Given the description of an element on the screen output the (x, y) to click on. 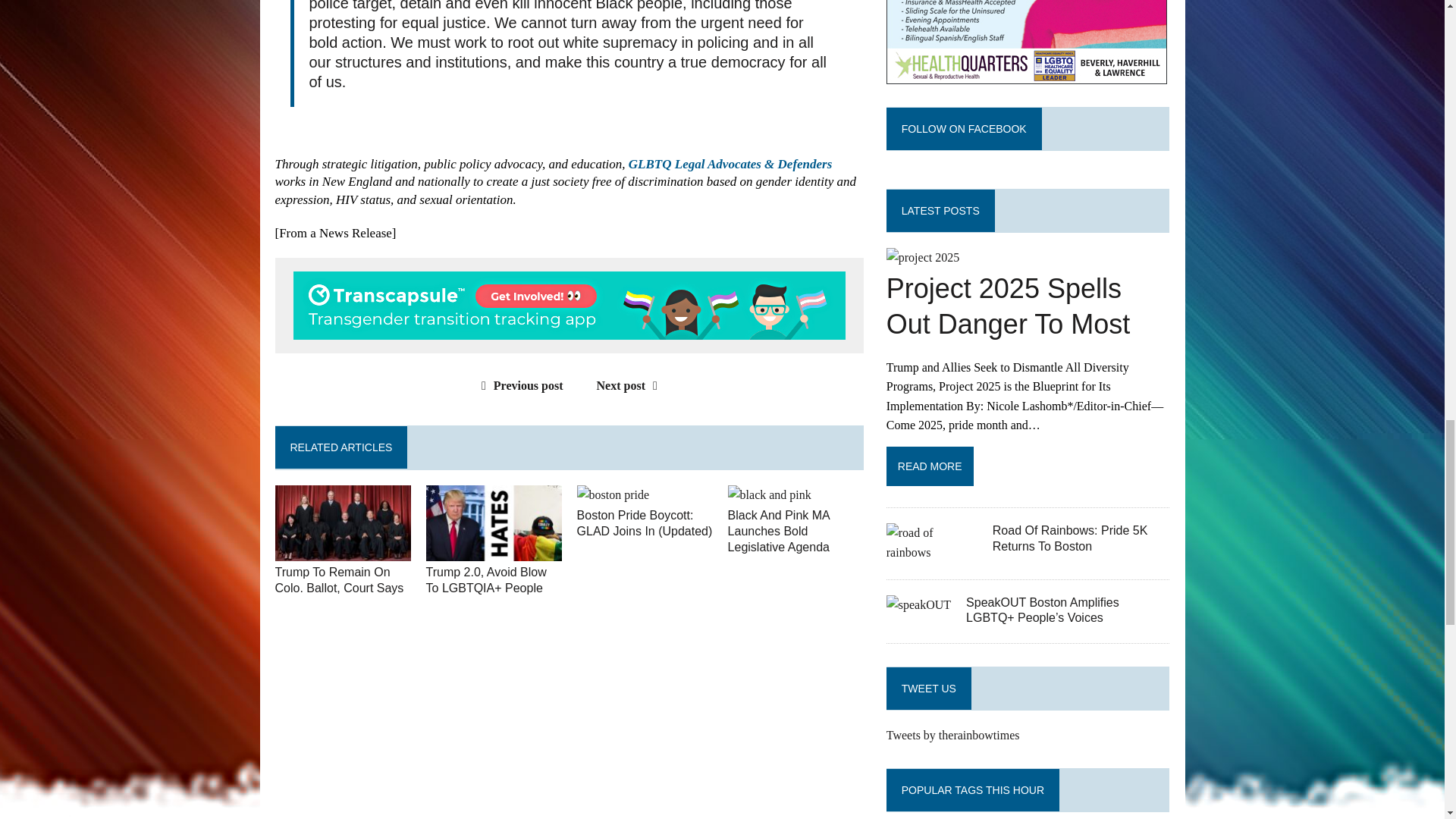
Black And Pink MA Launches Bold Legislative Agenda (778, 530)
Trump To Remain On Colo. Ballot, Court Says (342, 551)
Project 2025 Spells Out Danger To Most (922, 256)
Project 2025 Spells Out Danger To Most (1008, 305)
Trump To Remain On Colo. Ballot, Court Says (339, 579)
Black And Pink MA Launches Bold Legislative Agenda (769, 494)
Road Of Rainbows: Pride 5K Returns To Boston (931, 552)
